Given the description of an element on the screen output the (x, y) to click on. 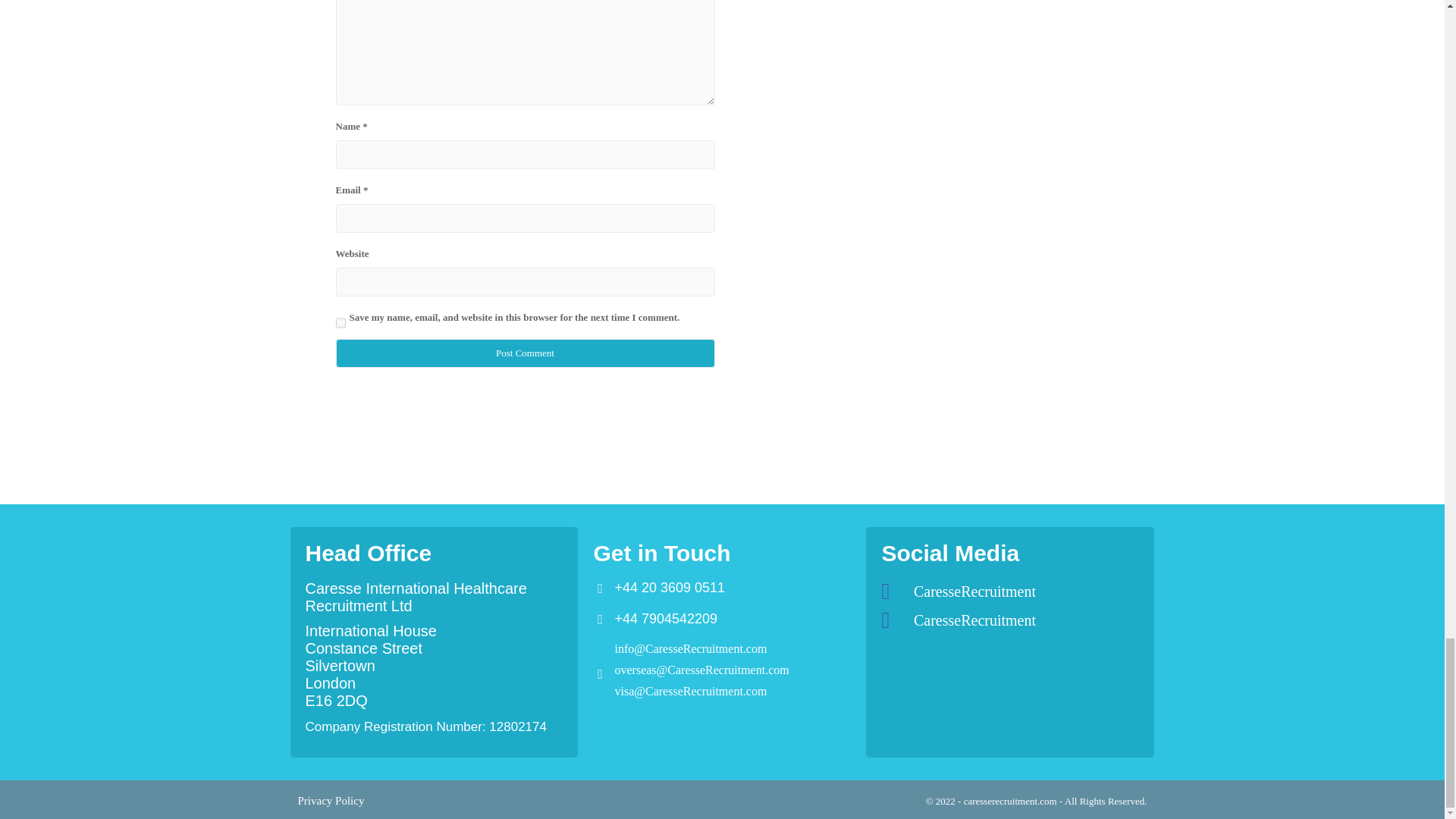
Post Comment (524, 353)
caresserecruitment.com (1011, 800)
Post Comment (524, 353)
CaresseRecruitment (1009, 590)
CaresseRecruitment (1009, 620)
Privacy Policy (330, 800)
yes (339, 322)
